Given the description of an element on the screen output the (x, y) to click on. 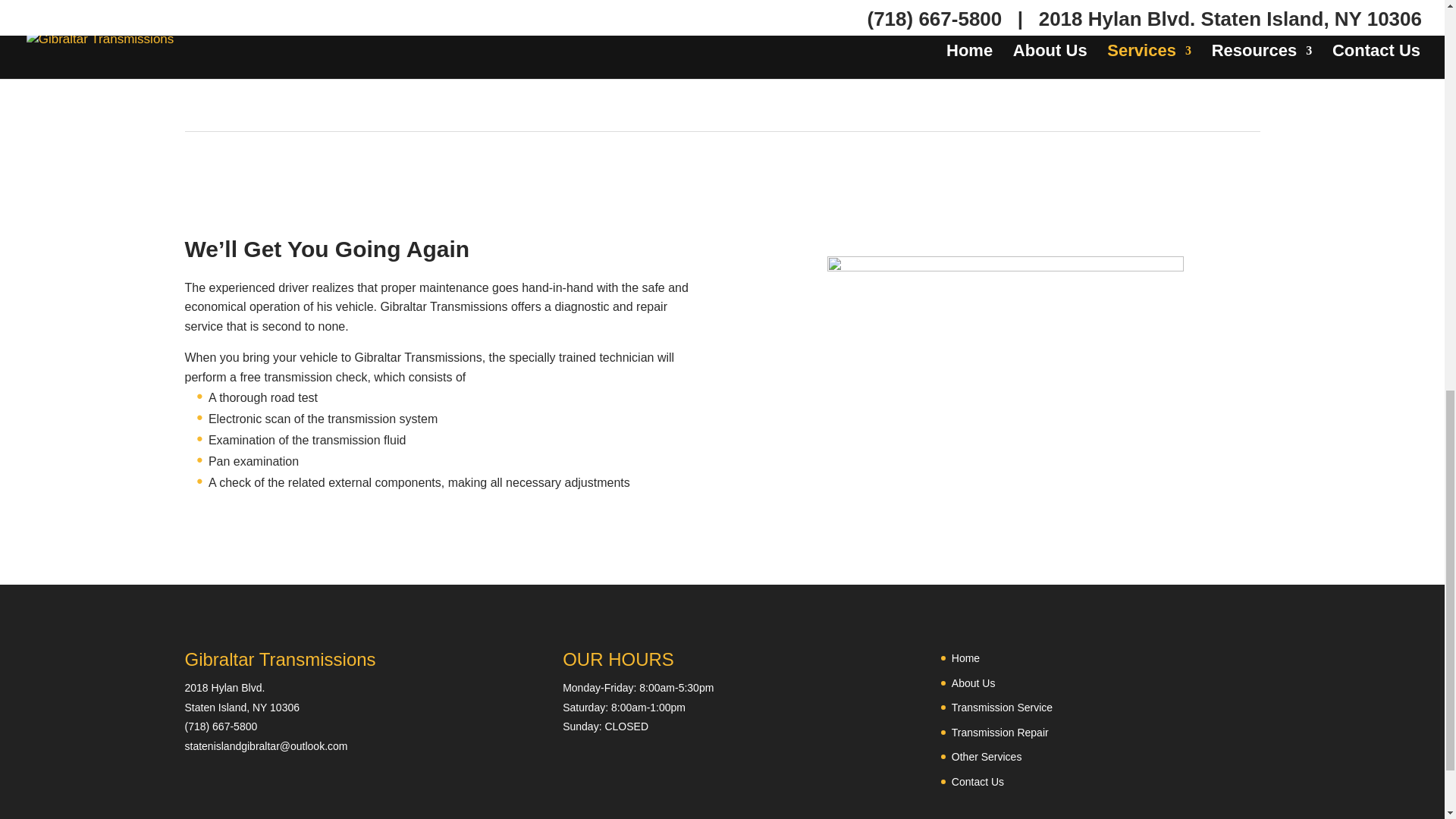
Transmission Service (1002, 707)
Contact Us (978, 781)
Other Services (987, 756)
Transmission Repair (1000, 732)
About Us (973, 683)
Home (965, 657)
